Given the description of an element on the screen output the (x, y) to click on. 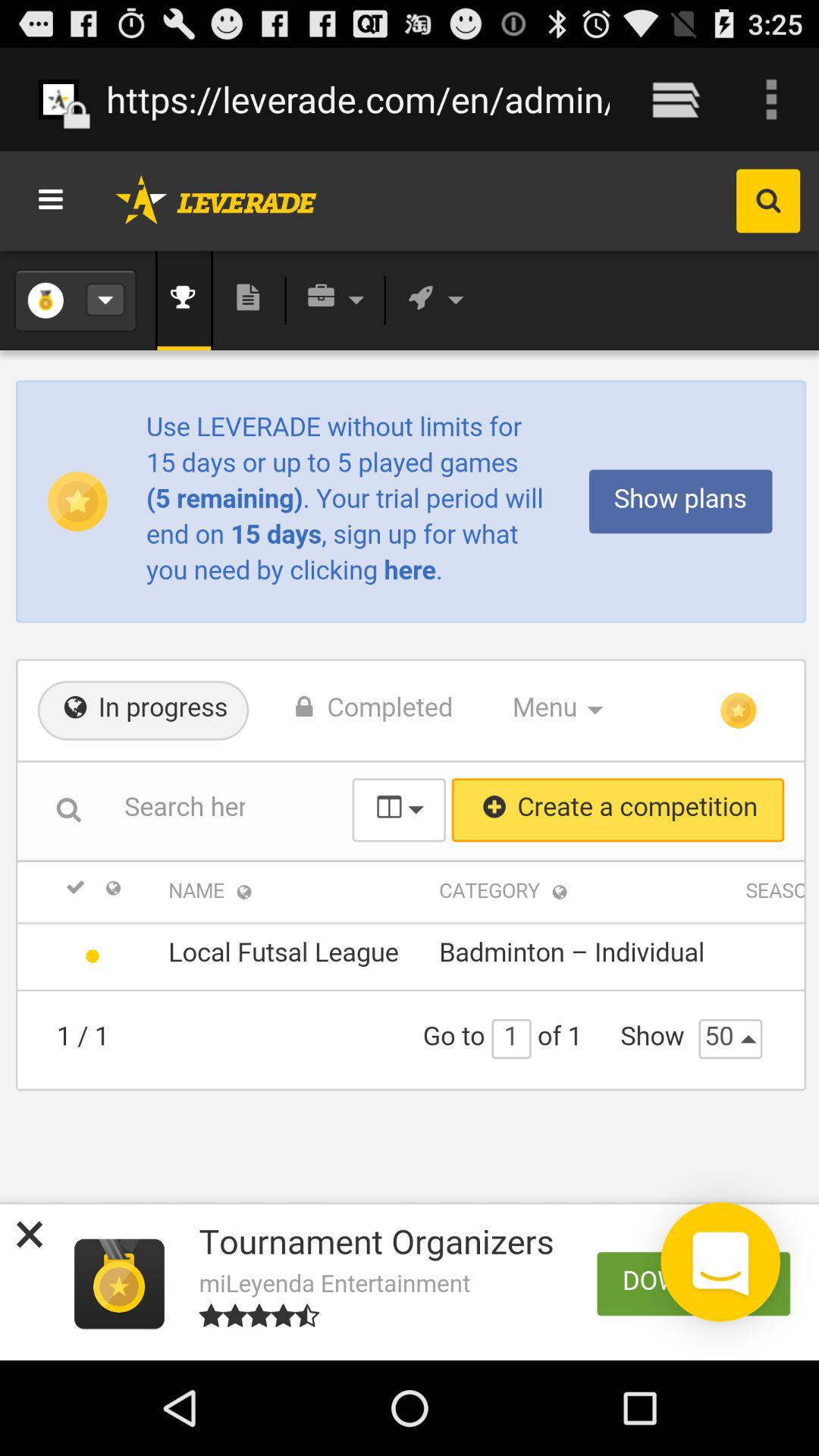
click the https leverade com item (357, 99)
